Given the description of an element on the screen output the (x, y) to click on. 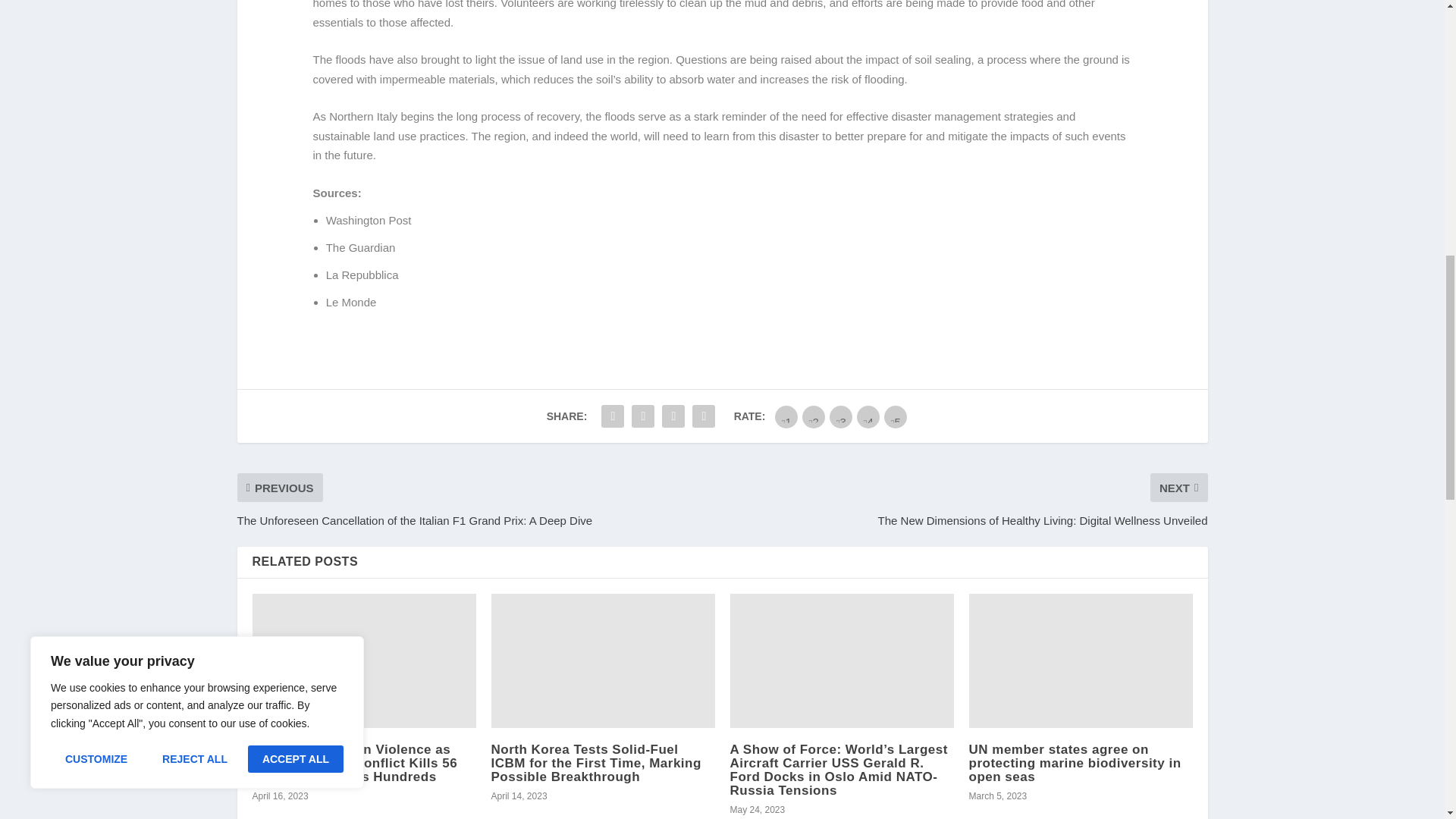
poor (813, 416)
bad (785, 416)
